Given the description of an element on the screen output the (x, y) to click on. 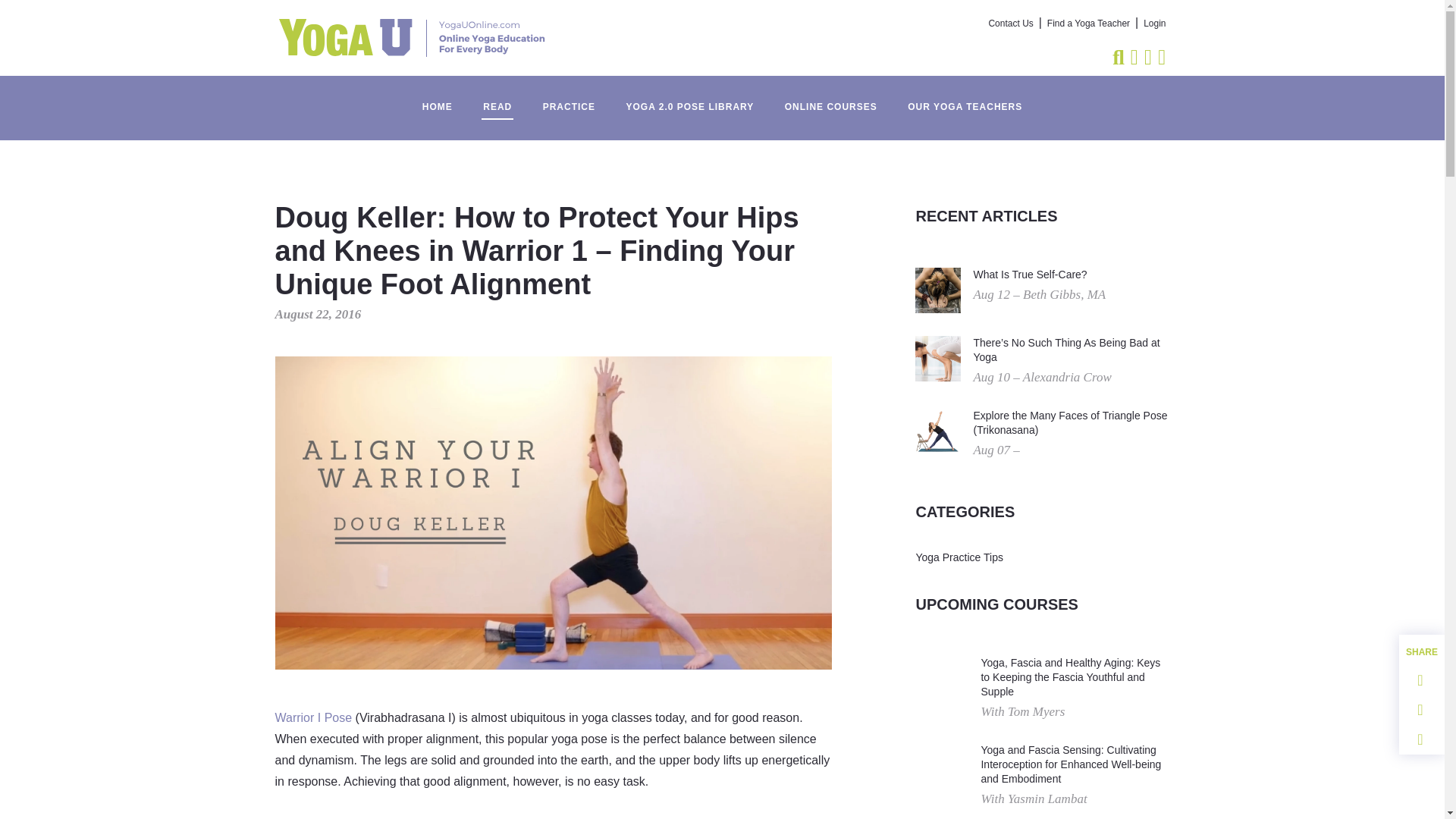
ONLINE COURSES (831, 99)
READ (496, 99)
PRACTICE (568, 99)
HOME (437, 99)
Find a Yoga Teacher (1088, 23)
Contact Us (1011, 23)
YOGA 2.0 POSE LIBRARY (689, 99)
Warrior I Pose (313, 717)
OUR YOGA TEACHERS (964, 99)
